Given the description of an element on the screen output the (x, y) to click on. 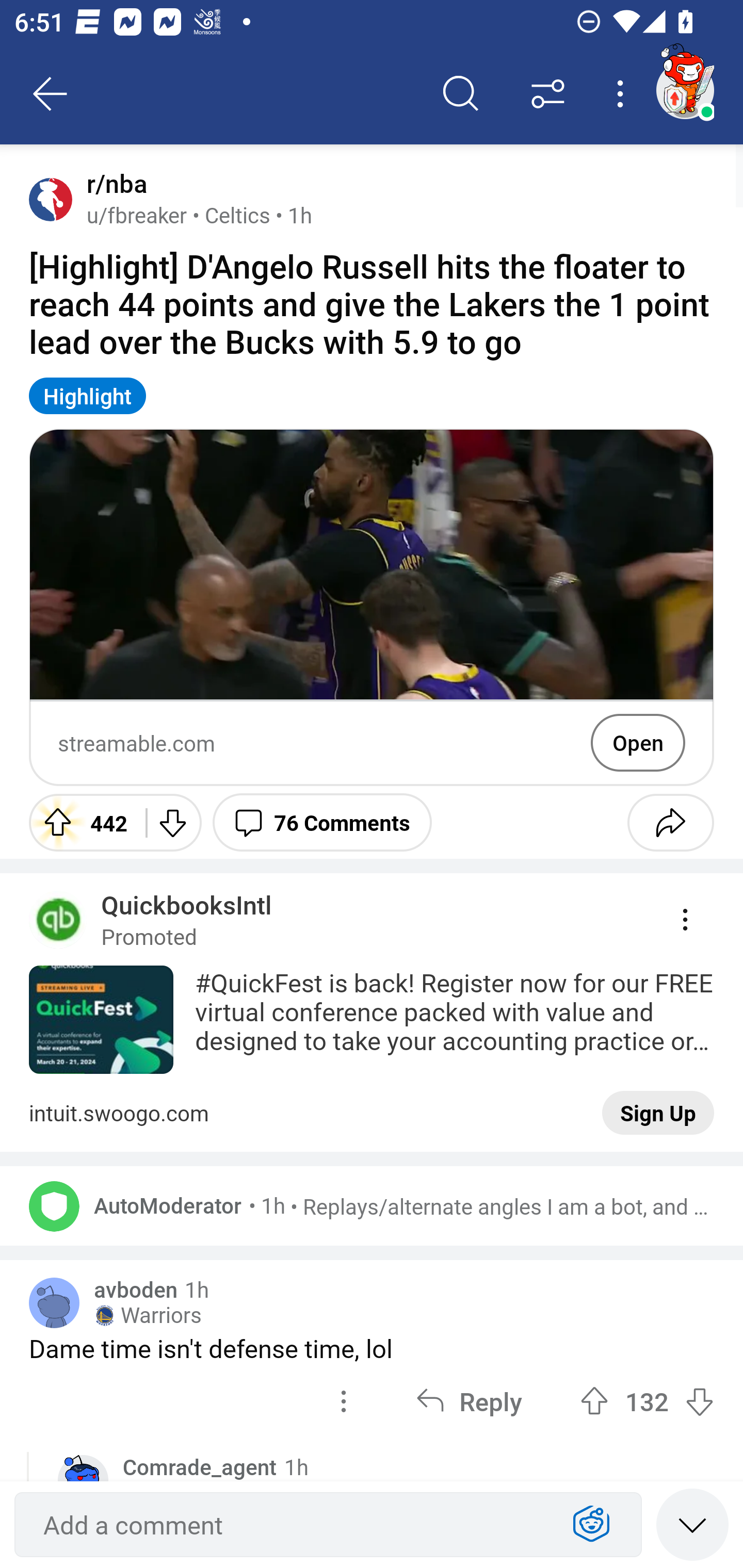
Back (50, 93)
TestAppium002 account (685, 90)
Search comments (460, 93)
Sort comments (547, 93)
More options (623, 93)
r/nba (113, 183)
Avatar (50, 199)
Highlight (87, 395)
Preview Image streamable.com Open (371, 606)
Open (637, 742)
Upvote 442 (79, 822)
Downvote (171, 822)
76 Comments (321, 822)
Share (670, 822)
Avatar (53, 1205)
Avatar (53, 1302)
Dame time isn't defense time, lol (371, 1348)
options (343, 1401)
Reply (469, 1401)
Upvote 132 132 votes Downvote (647, 1401)
Speed read (692, 1524)
Add a comment (291, 1524)
Show Expressions (590, 1524)
